Given the description of an element on the screen output the (x, y) to click on. 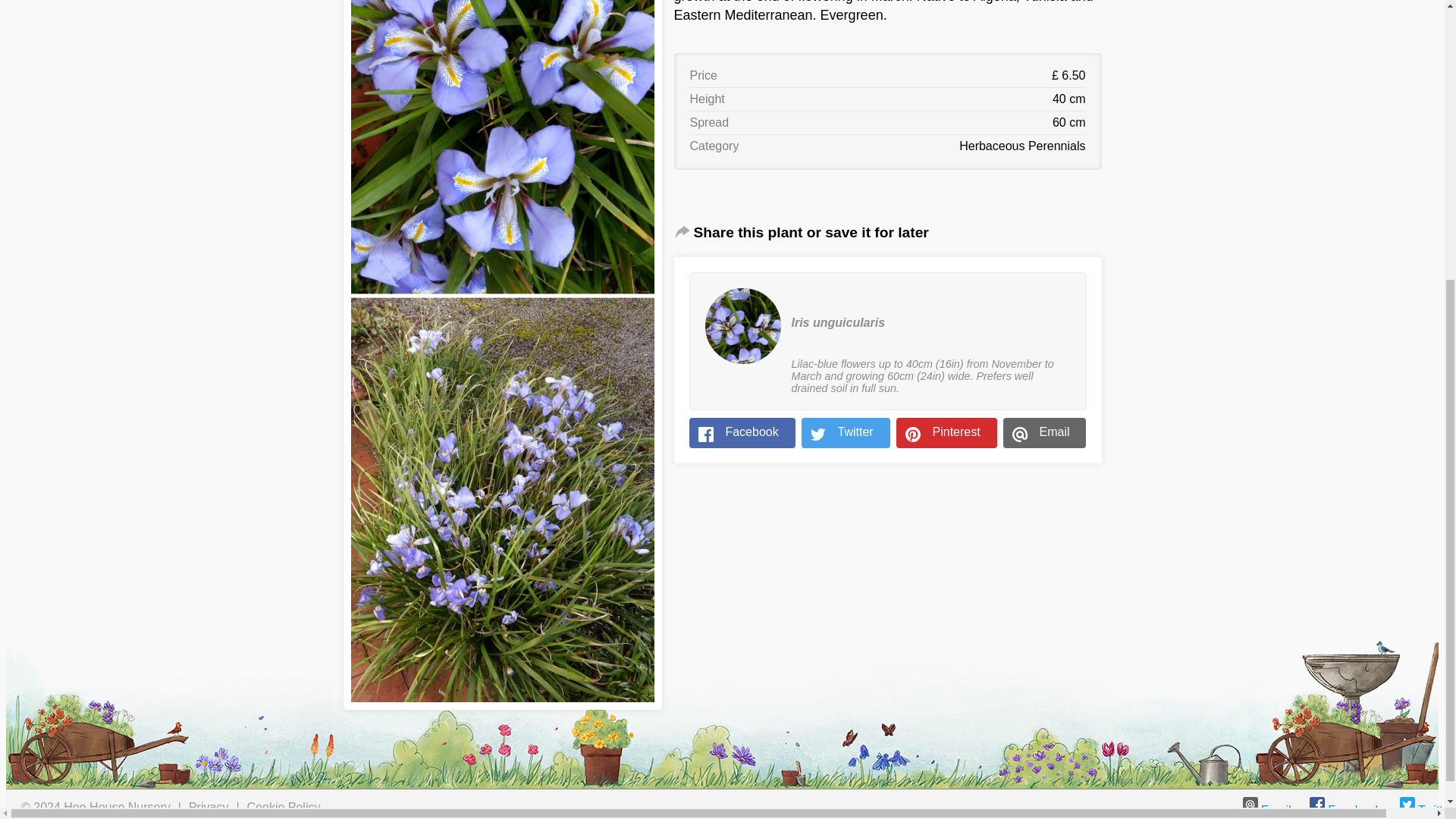
Email (1267, 809)
Twitter (1426, 809)
Facebook (1344, 809)
Facebook (741, 432)
Privacy (208, 807)
Pinterest (946, 432)
Cookie Policy (283, 807)
Twitter (845, 432)
Email (1044, 432)
